Given the description of an element on the screen output the (x, y) to click on. 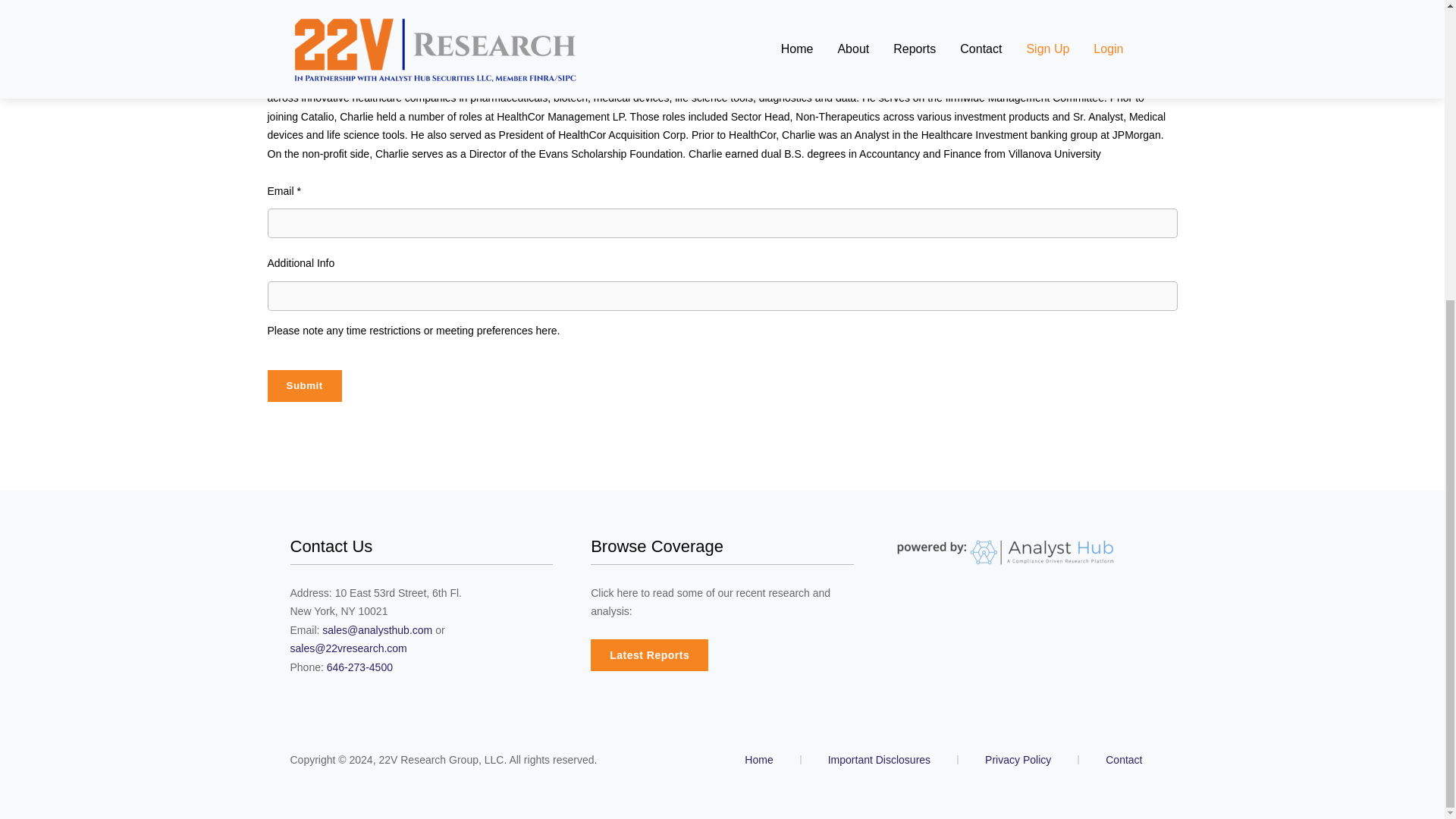
Home (758, 759)
Submit (303, 385)
646-273-4500 (359, 666)
Latest Reports (649, 654)
